Given the description of an element on the screen output the (x, y) to click on. 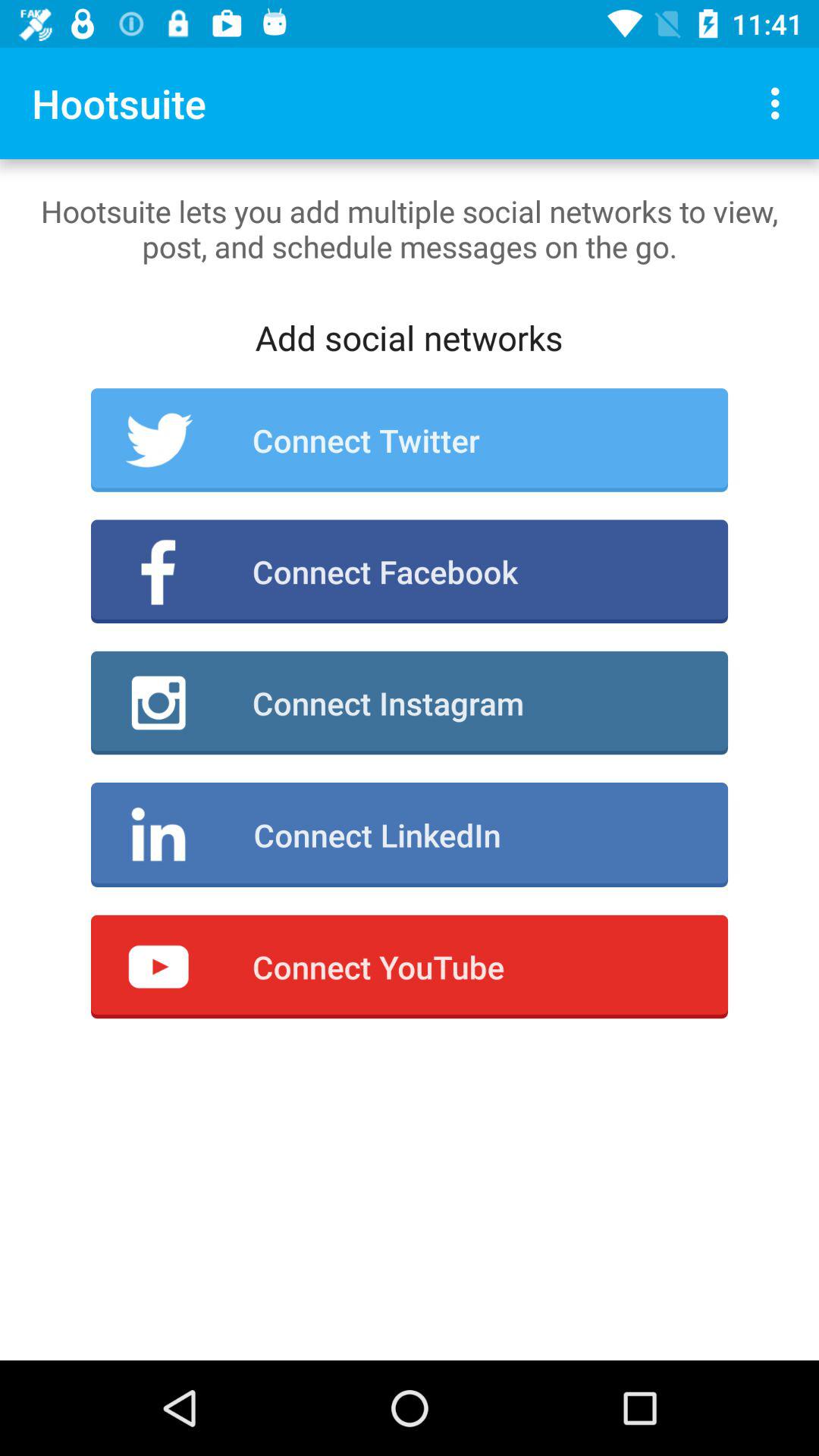
choose the icon at the top right corner (779, 103)
